Given the description of an element on the screen output the (x, y) to click on. 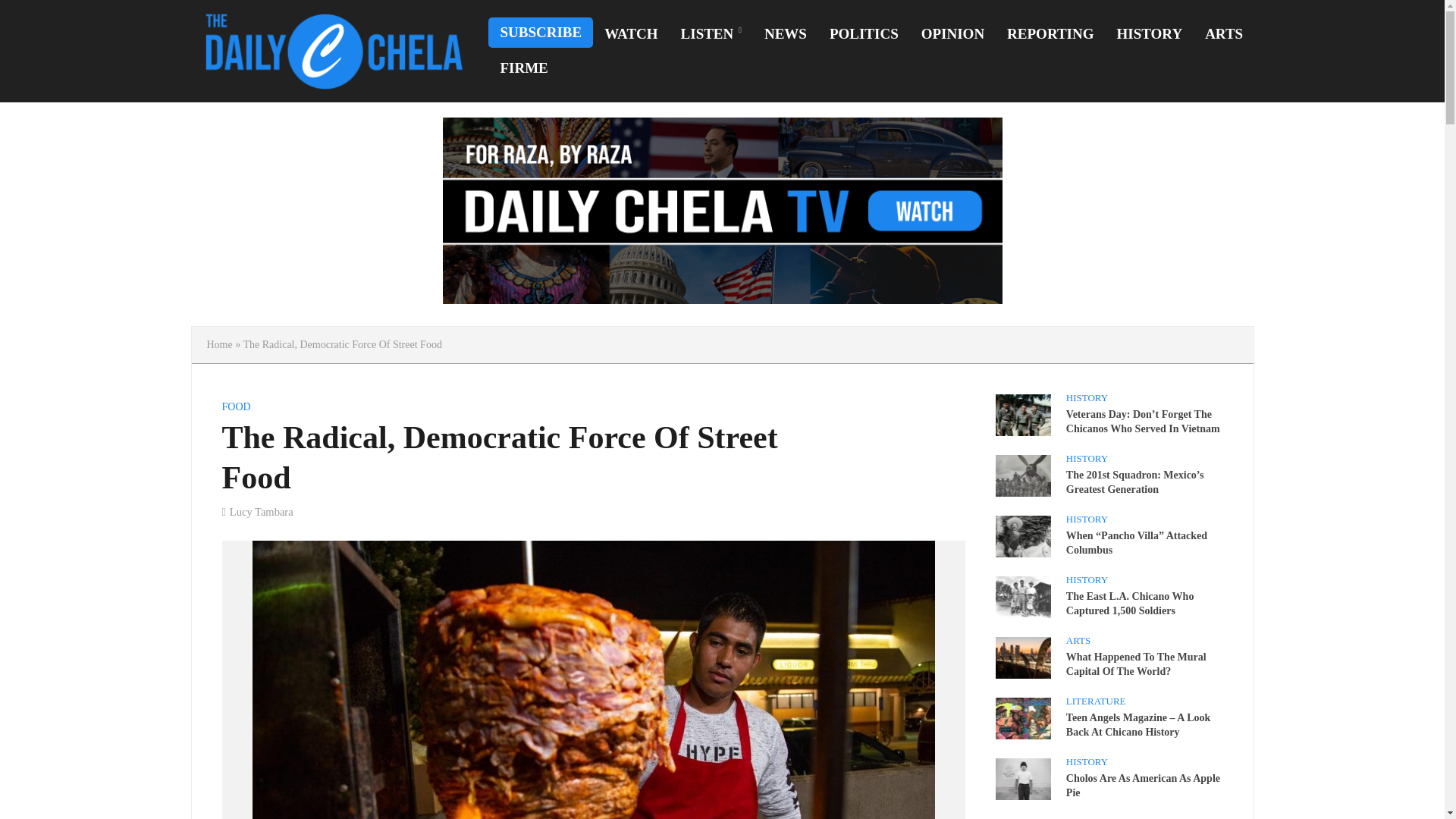
LISTEN (710, 34)
FOOD (235, 408)
FIRME (523, 68)
Cholos Are As American As Apple Pie (1021, 777)
The East L.A. Chicano Who Captured 1,500 Soldiers (1021, 595)
POLITICS (864, 34)
HISTORY (1149, 34)
REPORTING (1050, 34)
Lucy Tambara (262, 513)
ARTS (1223, 34)
NEWS (785, 34)
SUBSCRIBE (539, 32)
What Happened To The Mural Capital Of The World? (1021, 656)
Home (218, 344)
WATCH (630, 34)
